Given the description of an element on the screen output the (x, y) to click on. 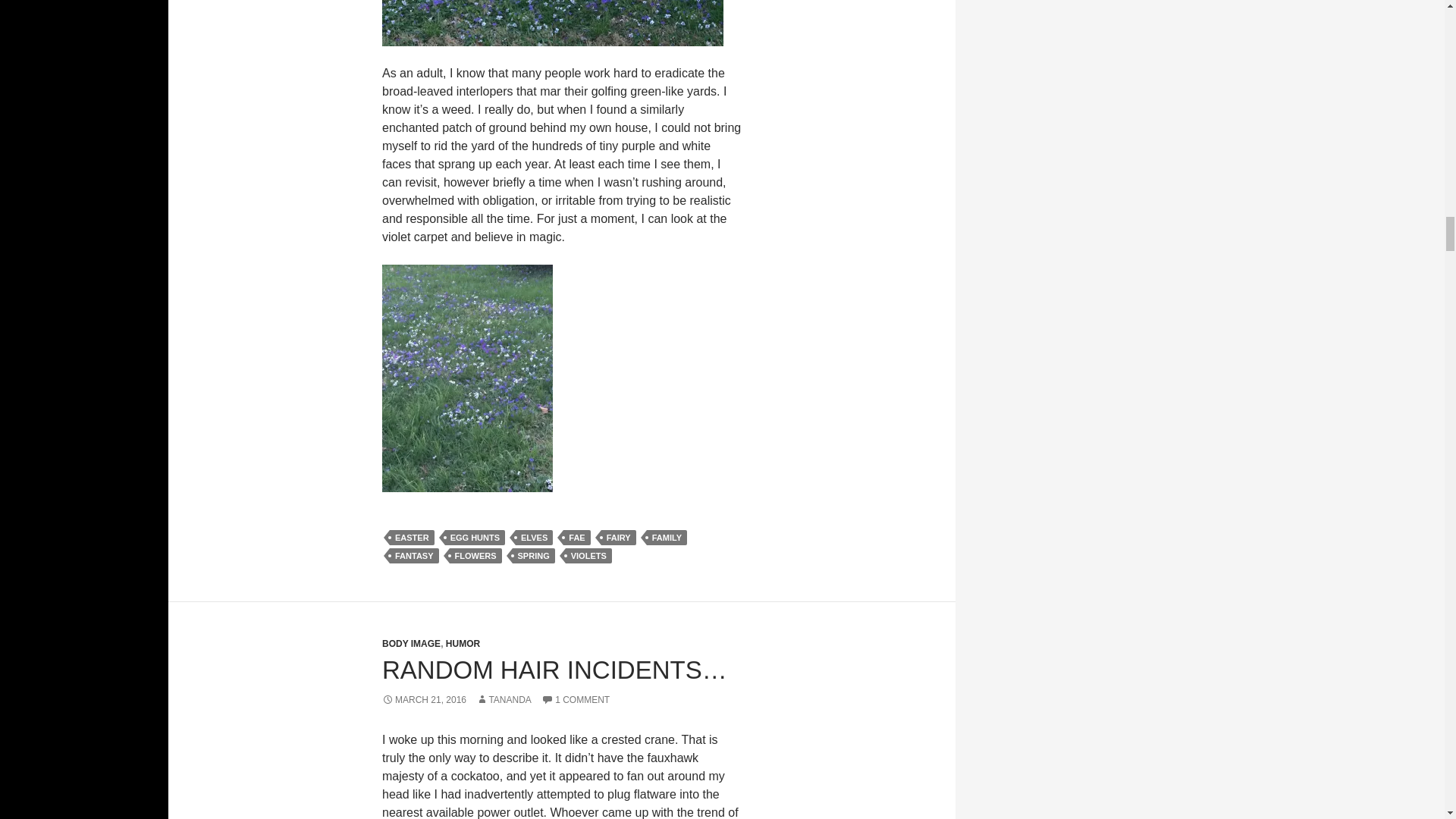
EASTER (411, 537)
